Given the description of an element on the screen output the (x, y) to click on. 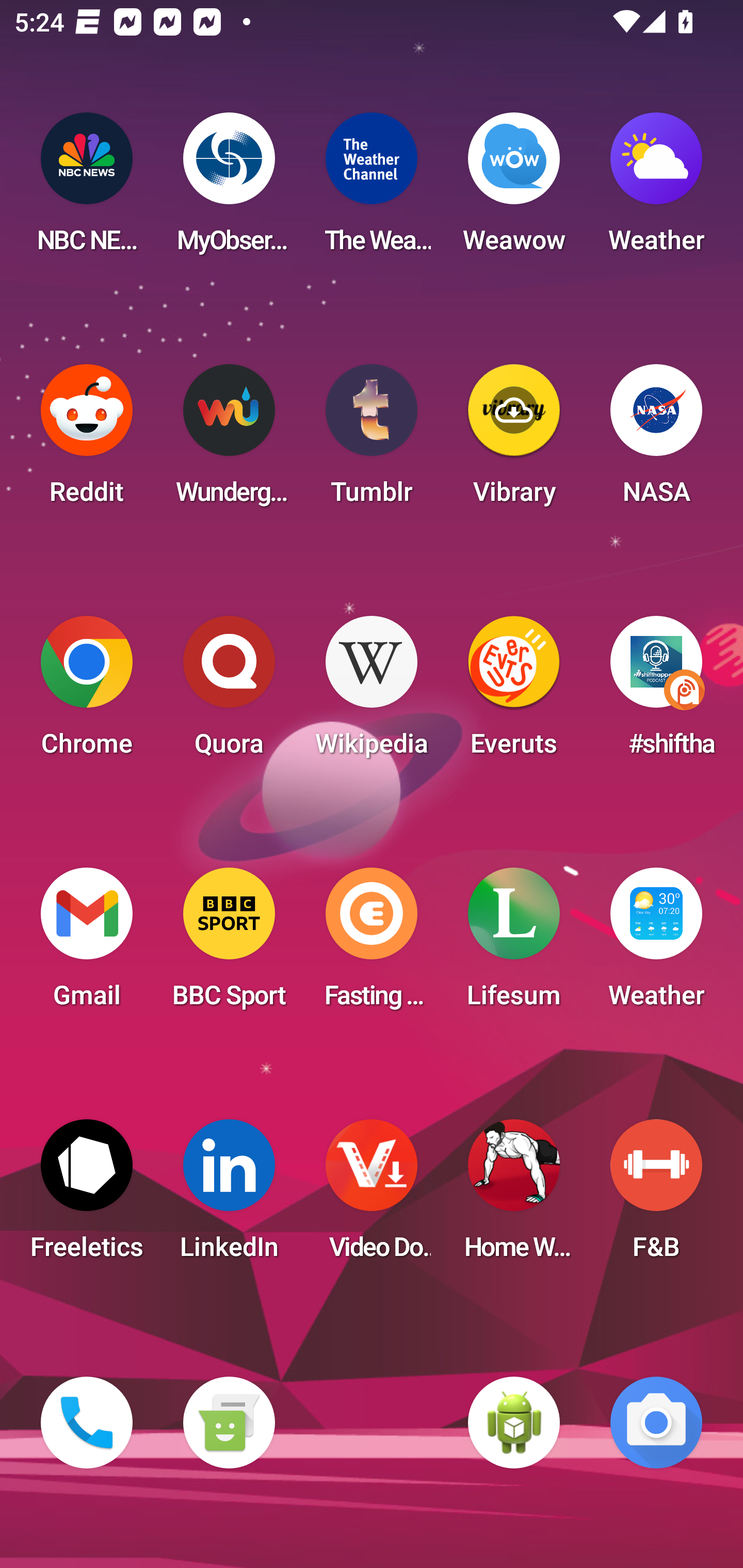
NBC NEWS (86, 188)
MyObservatory (228, 188)
The Weather Channel (371, 188)
Weawow (513, 188)
Weather (656, 188)
Reddit (86, 440)
Wunderground (228, 440)
Tumblr (371, 440)
Vibrary (513, 440)
NASA (656, 440)
Chrome (86, 692)
Quora (228, 692)
Wikipedia (371, 692)
Everuts (513, 692)
#shifthappens in the Digital Workplace Podcast (656, 692)
Gmail (86, 943)
BBC Sport (228, 943)
Fasting Coach (371, 943)
Lifesum (513, 943)
Weather (656, 943)
Freeletics (86, 1195)
LinkedIn (228, 1195)
Video Downloader & Ace Player (371, 1195)
Home Workout (513, 1195)
F&B (656, 1195)
Phone (86, 1422)
Messaging (228, 1422)
WebView Browser Tester (513, 1422)
Camera (656, 1422)
